Given the description of an element on the screen output the (x, y) to click on. 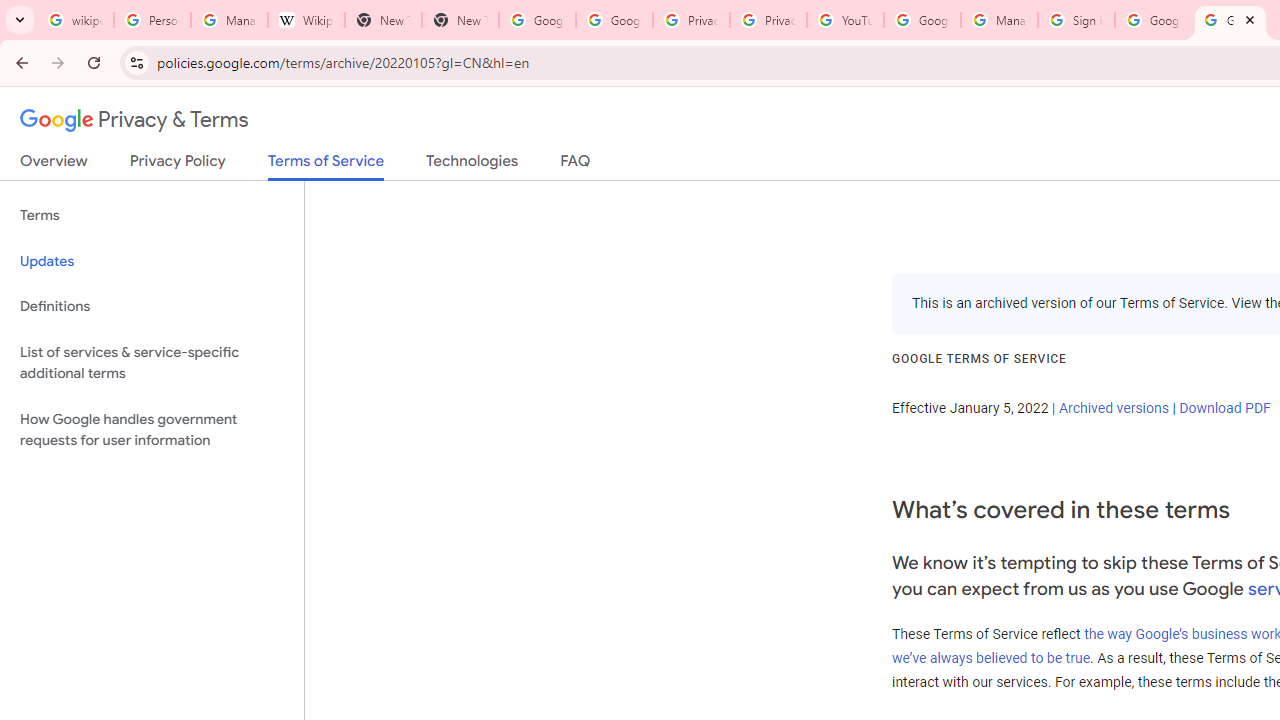
Manage your Location History - Google Search Help (228, 20)
